Given the description of an element on the screen output the (x, y) to click on. 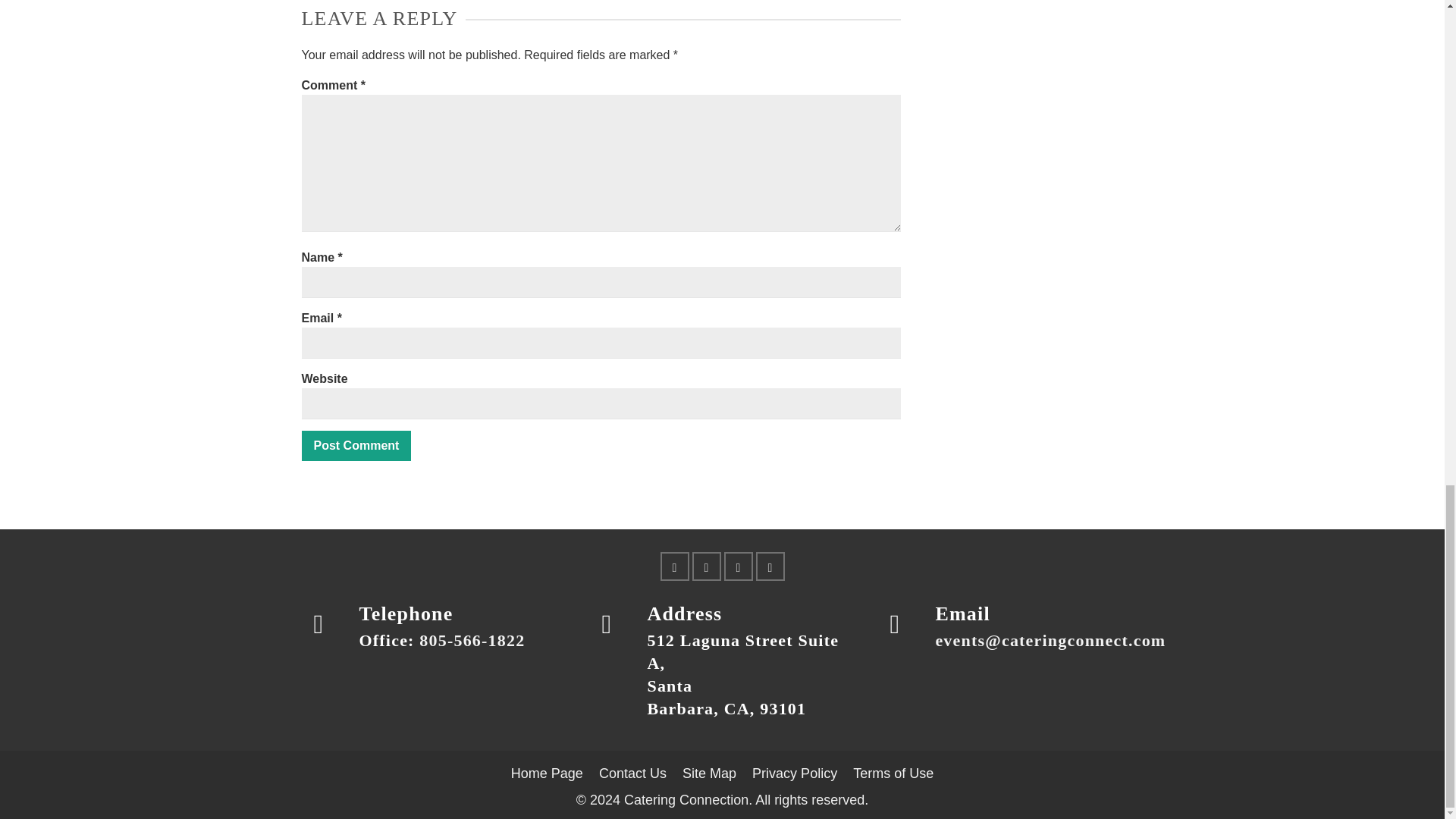
Post Comment (356, 445)
